Given the description of an element on the screen output the (x, y) to click on. 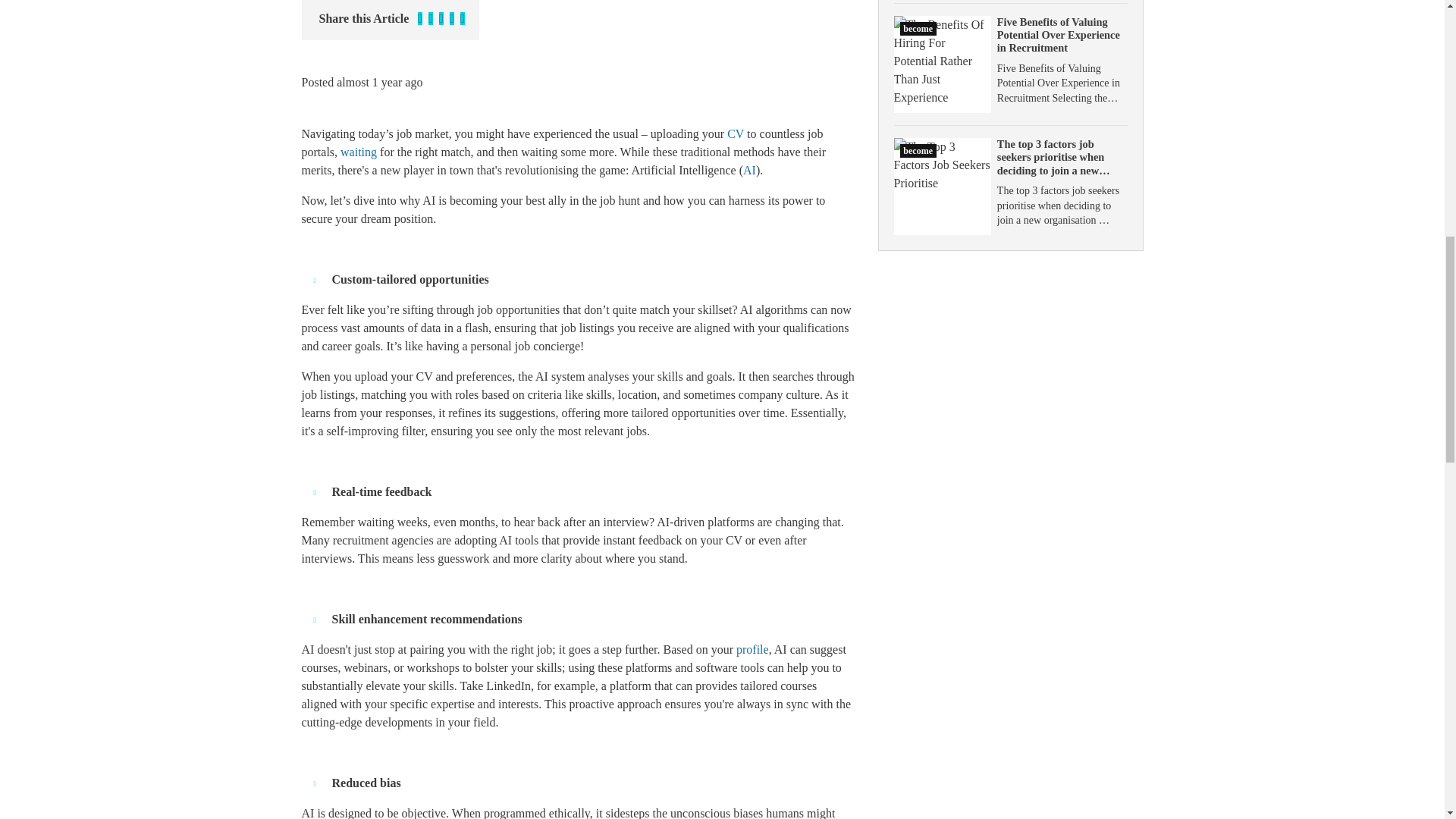
AI (748, 169)
waiting (358, 151)
CV (735, 133)
profile (752, 649)
